Given the description of an element on the screen output the (x, y) to click on. 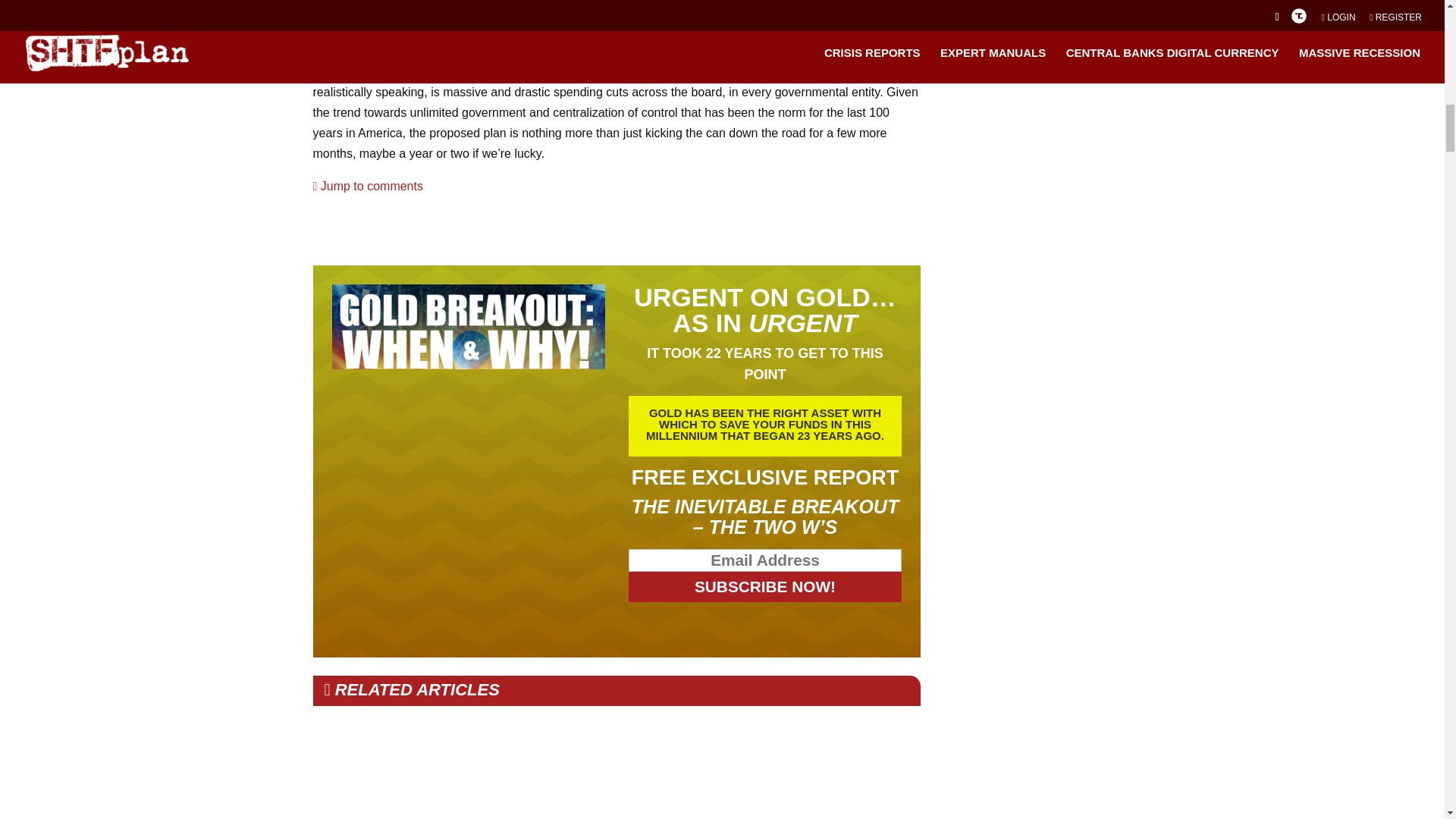
Subscribe Now! (765, 586)
Subscribe Now! (765, 586)
Jump to comments (367, 185)
